Given the description of an element on the screen output the (x, y) to click on. 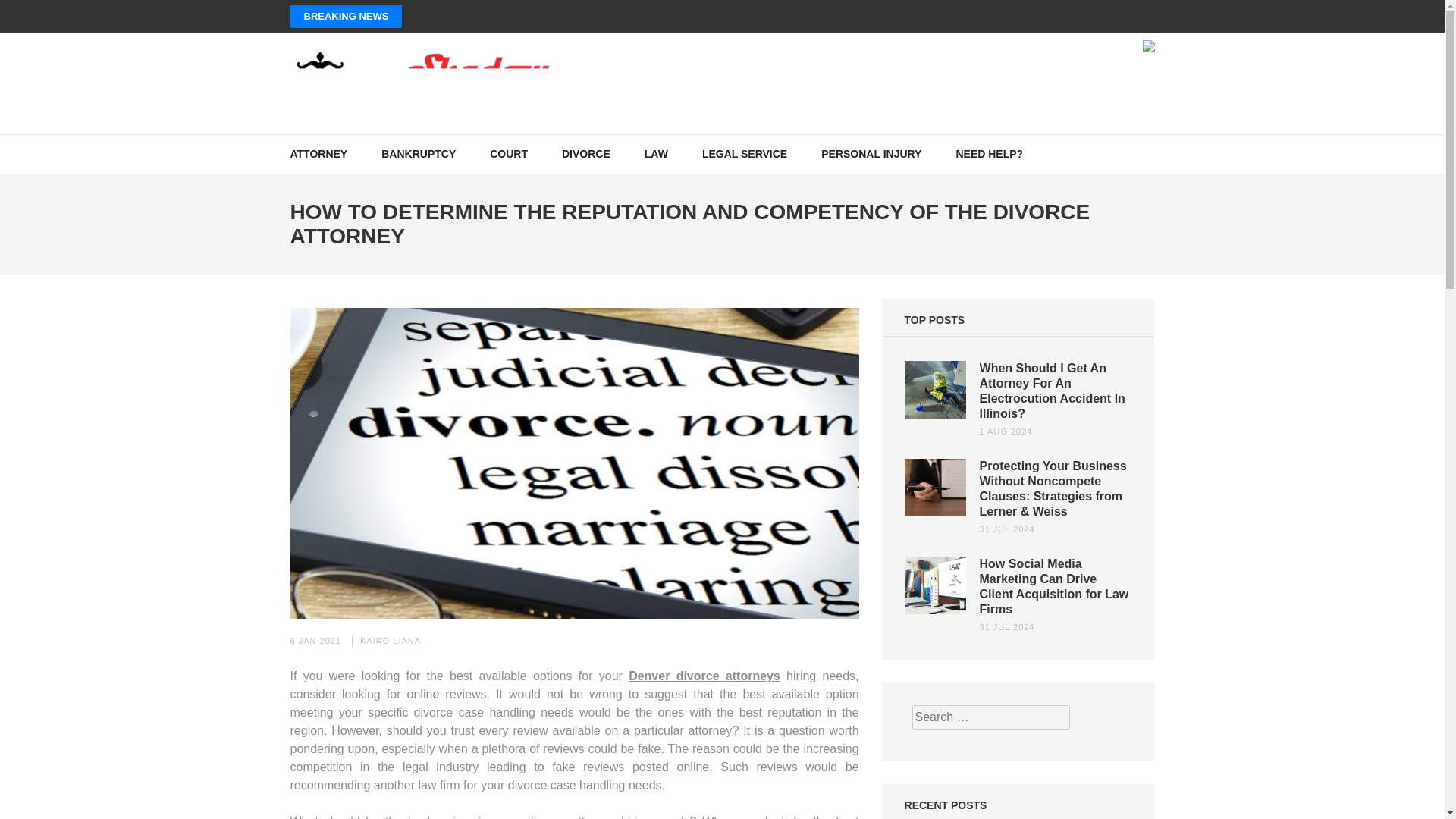
BANKRUPTCY (418, 154)
DIVORCE (586, 154)
ATTORNEY (318, 154)
NEED HELP? (989, 154)
Denver divorce attorneys (704, 675)
PERSONAL INJURY (871, 154)
LEGAL SERVICE (744, 154)
KAIRO LIANA (389, 640)
BREAKING NEWS (345, 15)
COURT (508, 154)
6 JAN 2021 (314, 640)
